Given the description of an element on the screen output the (x, y) to click on. 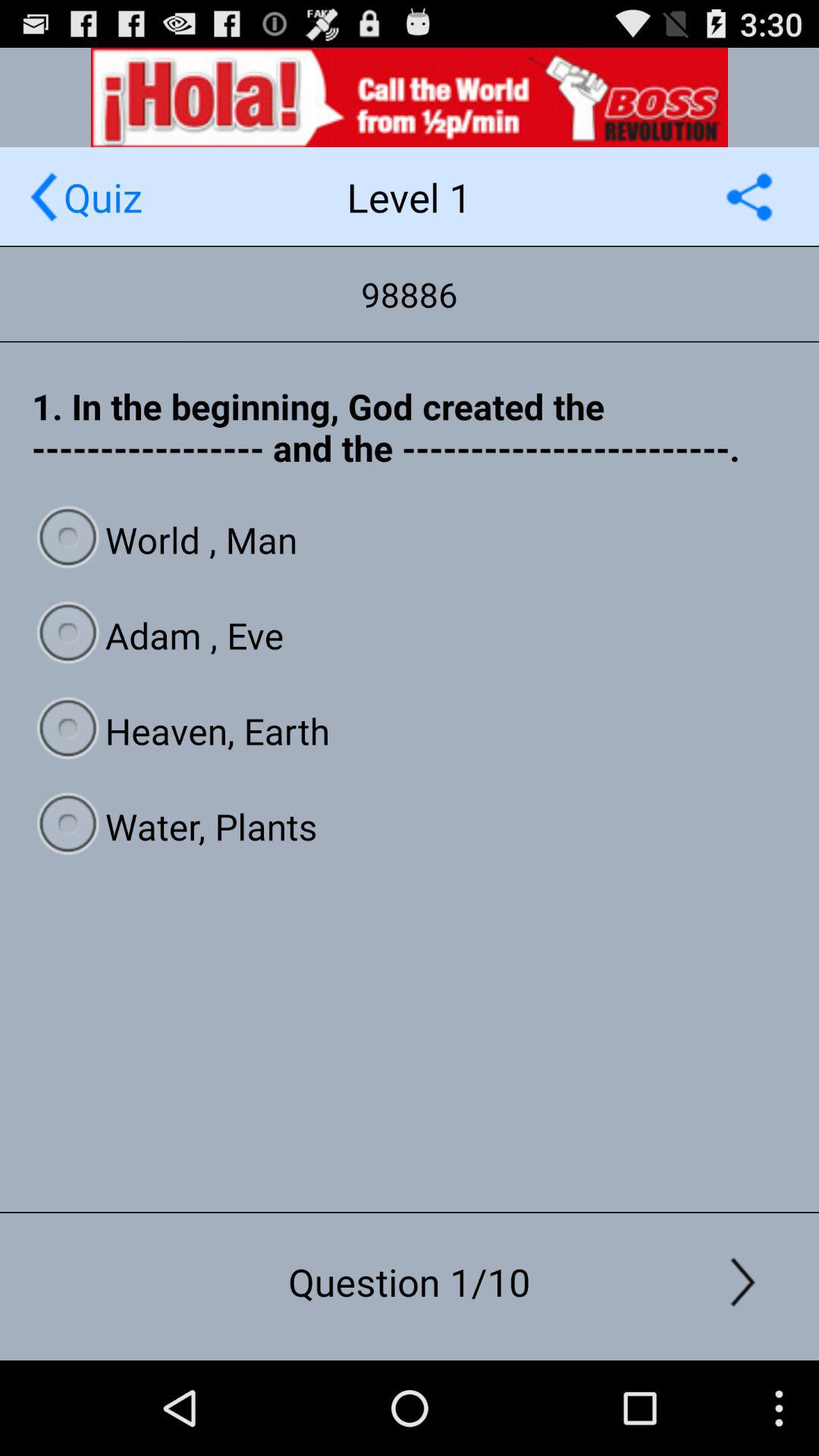
go back (43, 196)
